Given the description of an element on the screen output the (x, y) to click on. 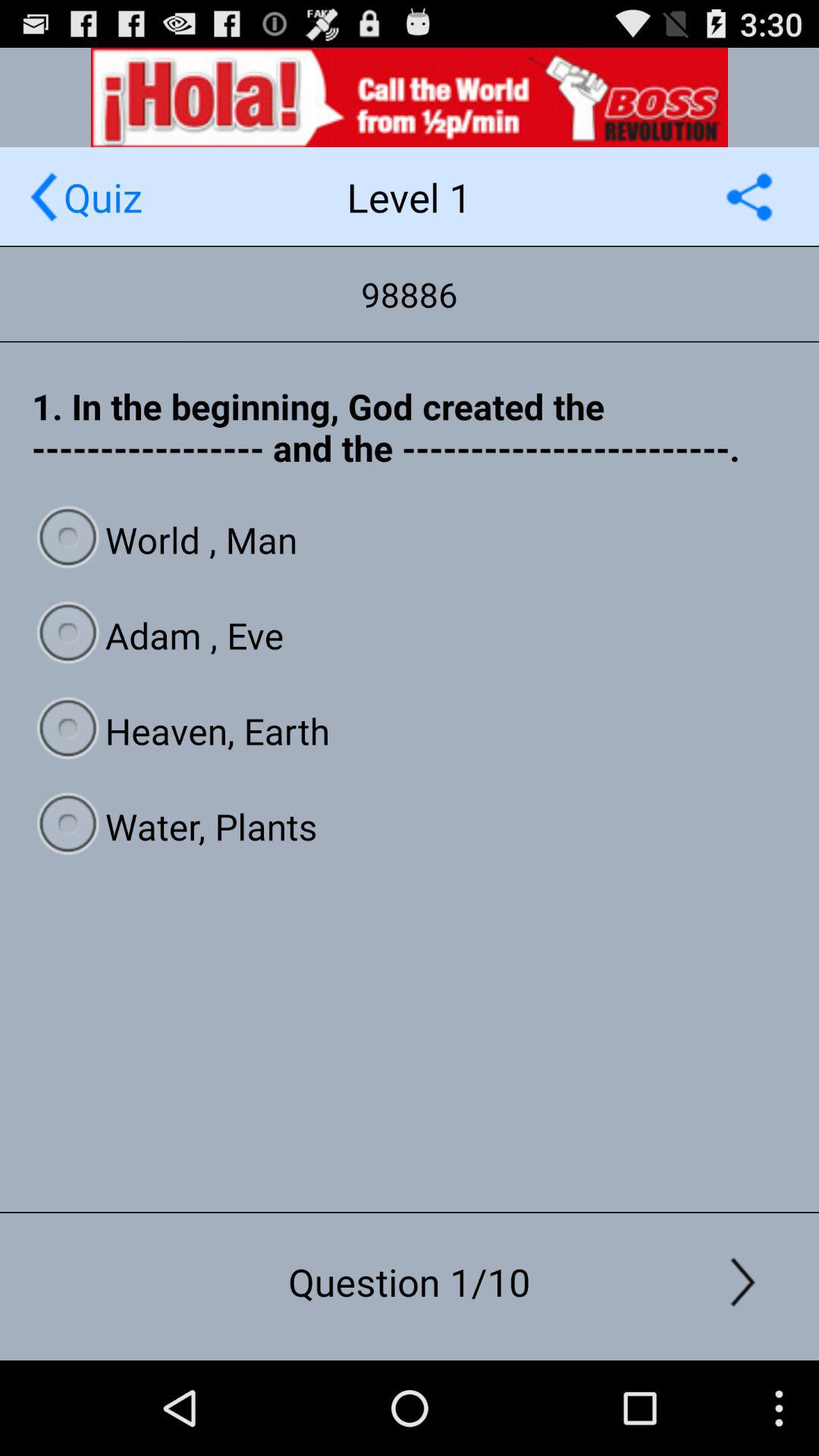
go back (43, 196)
